Given the description of an element on the screen output the (x, y) to click on. 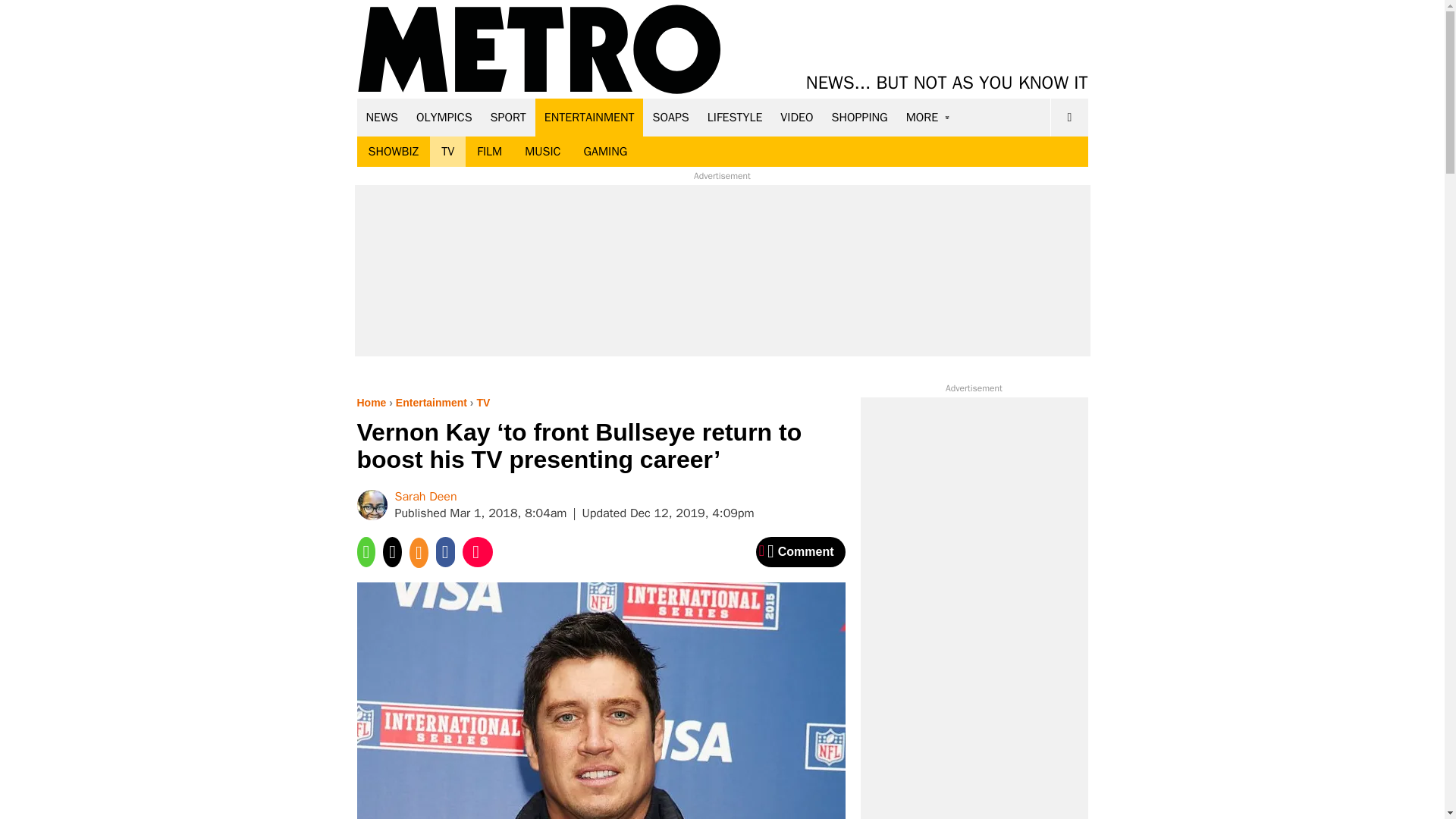
FILM (489, 151)
GAMING (605, 151)
OLYMPICS (444, 117)
SOAPS (670, 117)
NEWS (381, 117)
SHOWBIZ (392, 151)
MUSIC (542, 151)
TV (447, 151)
Metro (539, 50)
ENTERTAINMENT (589, 117)
